Given the description of an element on the screen output the (x, y) to click on. 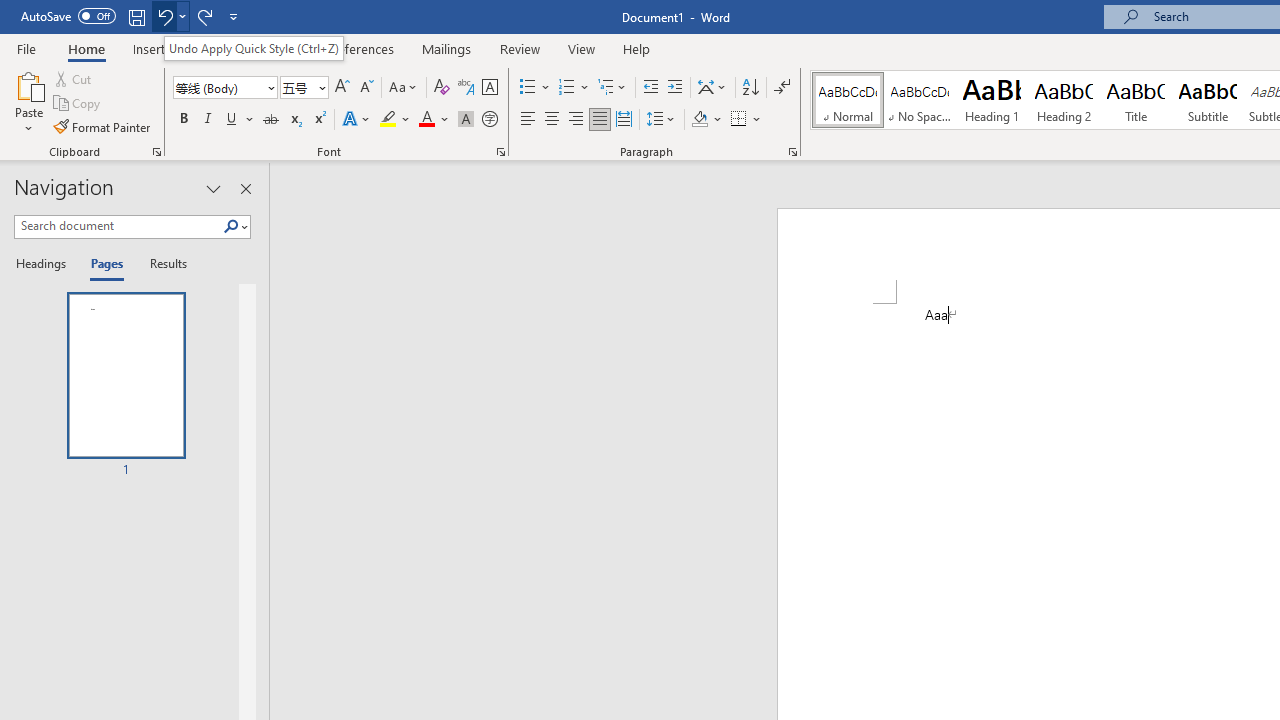
Increase Indent (675, 87)
Undo Apply Quick Style (Ctrl+Z) (253, 48)
Subtitle (1208, 100)
Format Painter (103, 126)
Shading RGB(0, 0, 0) (699, 119)
Italic (207, 119)
Redo Style (204, 15)
Strikethrough (270, 119)
Clear Formatting (442, 87)
